Given the description of an element on the screen output the (x, y) to click on. 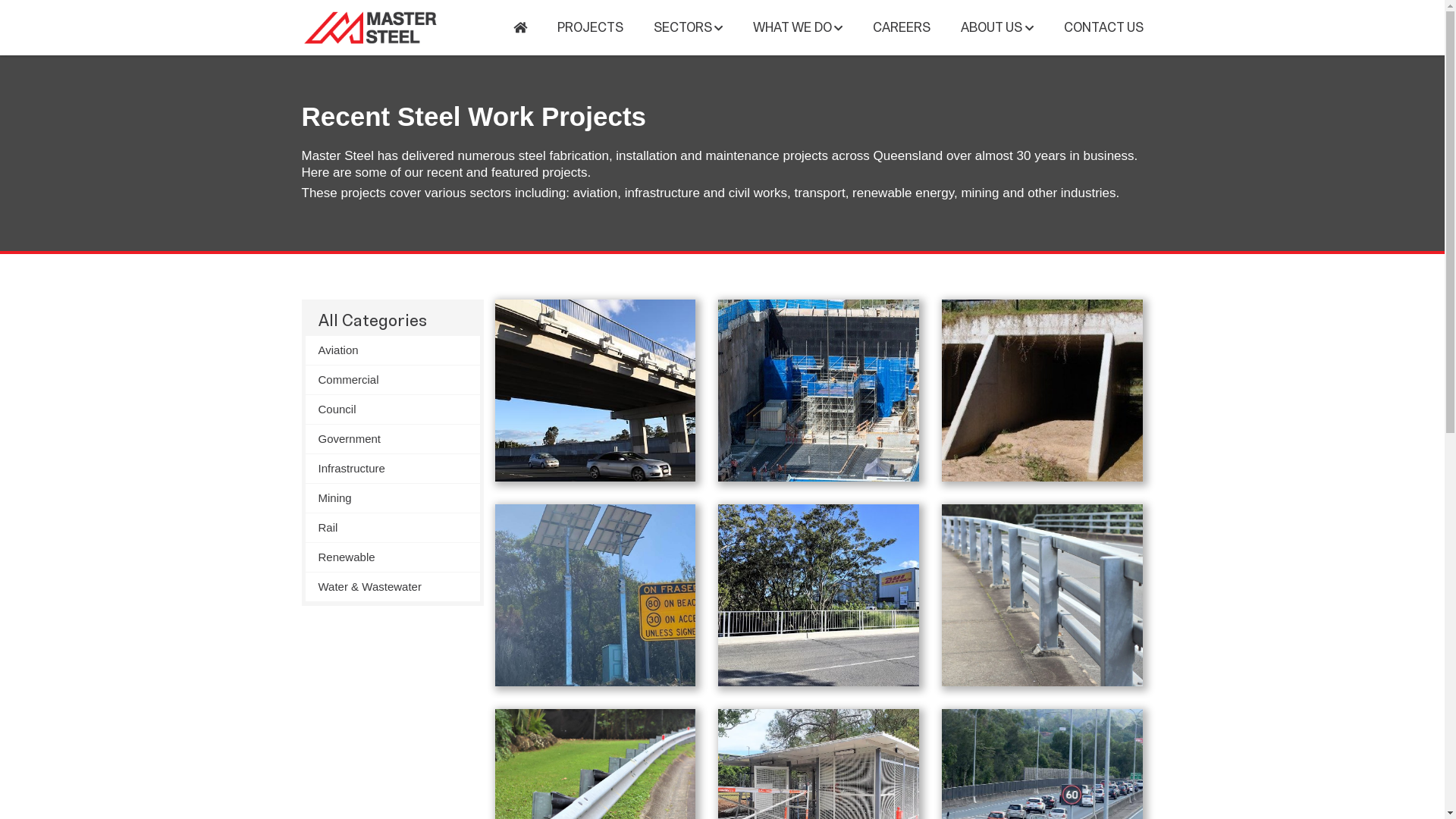
Water & Wastewater Element type: text (391, 586)
PROJECTS Element type: text (590, 26)
WHAT WE DO Element type: text (797, 26)
Mining Element type: text (391, 497)
CONTACT US Element type: text (1102, 26)
Council Element type: text (391, 409)
Rail Element type: text (391, 527)
Aviation Element type: text (391, 349)
ABOUT US Element type: text (996, 26)
Infrastructure Element type: text (391, 468)
CAREERS Element type: text (901, 26)
Government Element type: text (391, 438)
All Categories Element type: text (391, 319)
Commercial Element type: text (391, 379)
Renewable Element type: text (391, 556)
SECTORS Element type: text (687, 26)
